Given the description of an element on the screen output the (x, y) to click on. 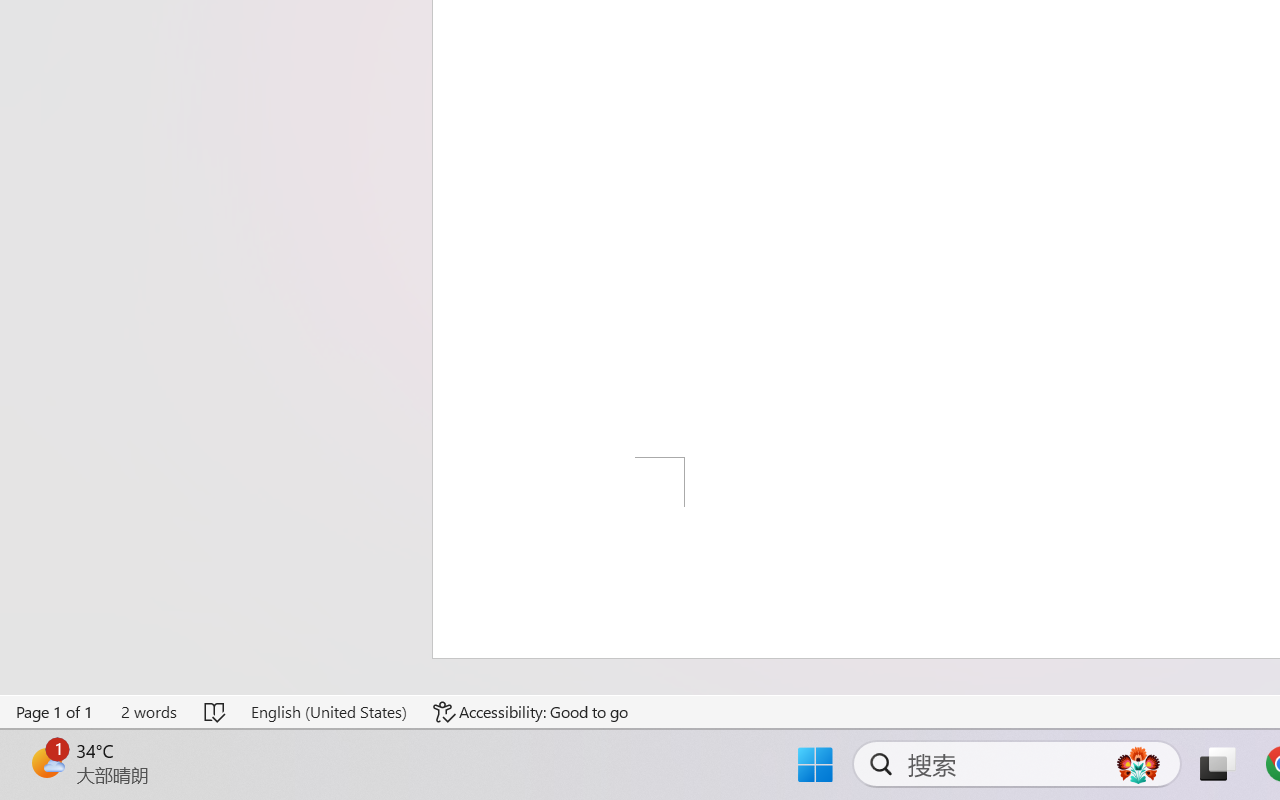
AutomationID: BadgeAnchorLargeTicker (46, 762)
Language English (United States) (328, 712)
Spelling and Grammar Check No Errors (216, 712)
Accessibility Checker Accessibility: Good to go (531, 712)
AutomationID: DynamicSearchBoxGleamImage (1138, 764)
Page Number Page 1 of 1 (55, 712)
